Given the description of an element on the screen output the (x, y) to click on. 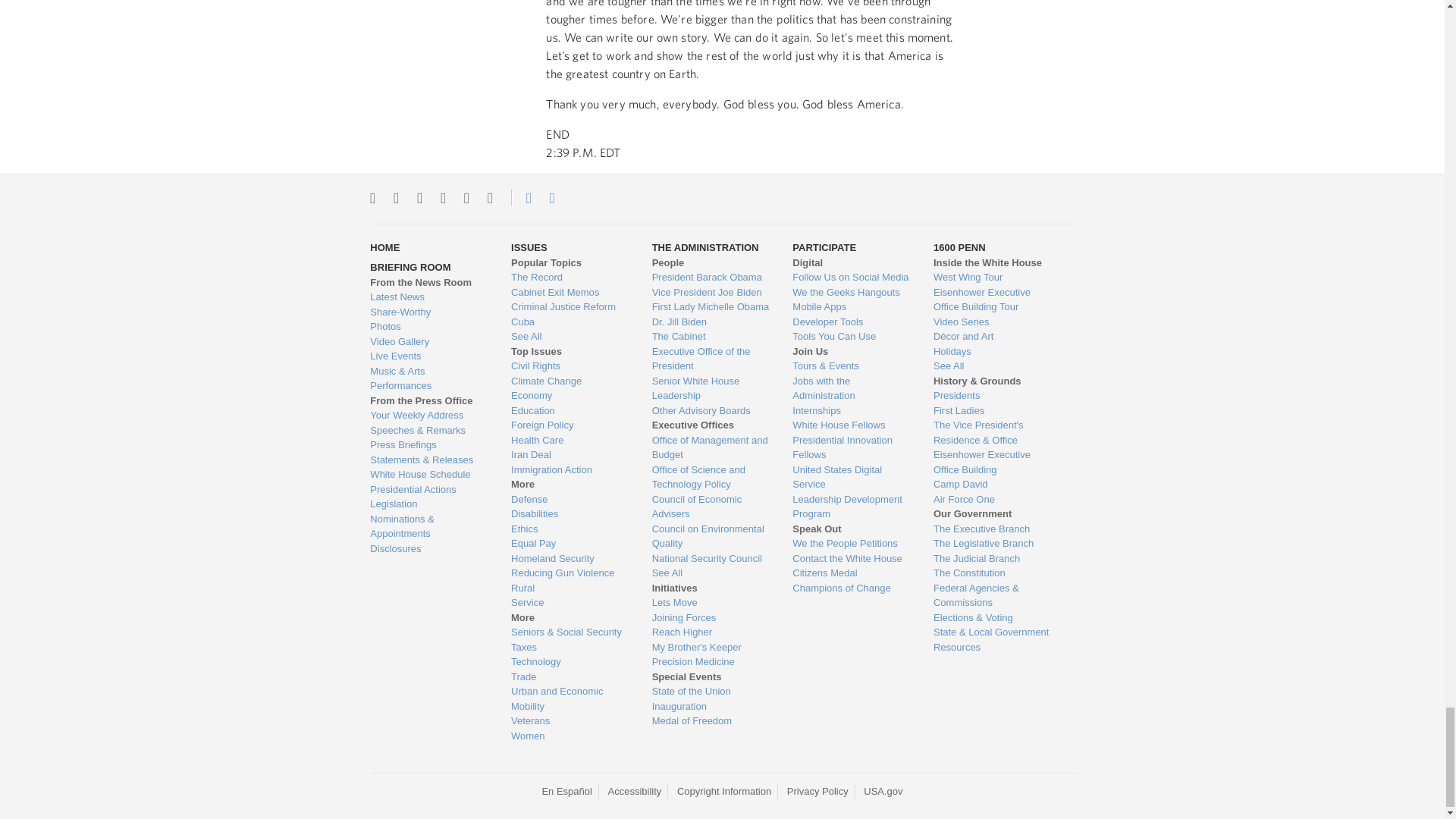
View the photo of the day and other galleries (428, 326)
Watch behind-the-scenes videos and more (428, 341)
Check out the most popular infographics and videos (428, 312)
Contact the Whitehouse. (521, 197)
Read the latest blog posts from 1600 Pennsylvania Ave (428, 296)
